Given the description of an element on the screen output the (x, y) to click on. 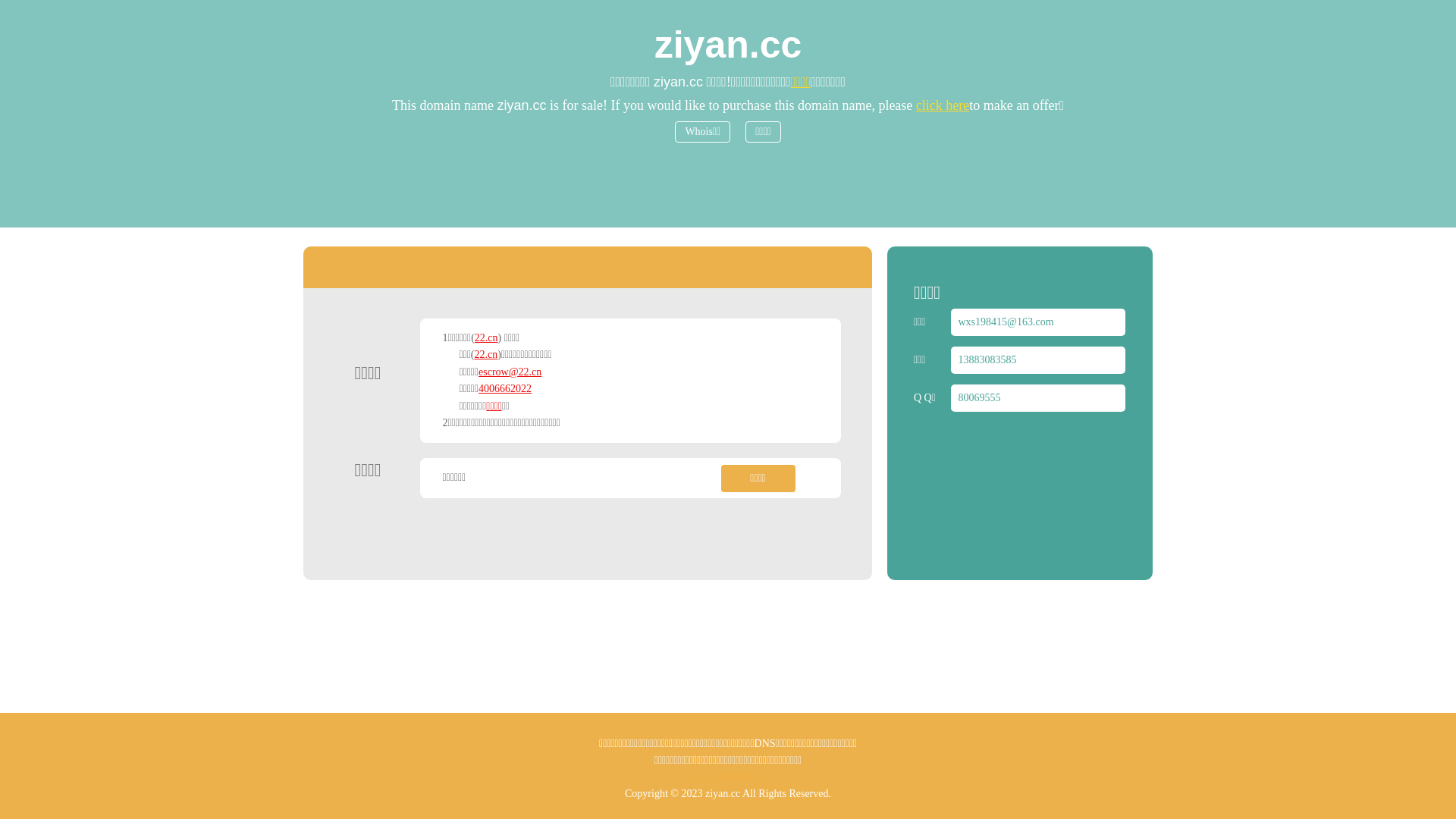
escrow@22.cn Element type: text (509, 371)
22.cn Element type: text (486, 337)
4006662022 Element type: text (504, 388)
22.cn Element type: text (486, 354)
click here Element type: text (942, 104)
